Given the description of an element on the screen output the (x, y) to click on. 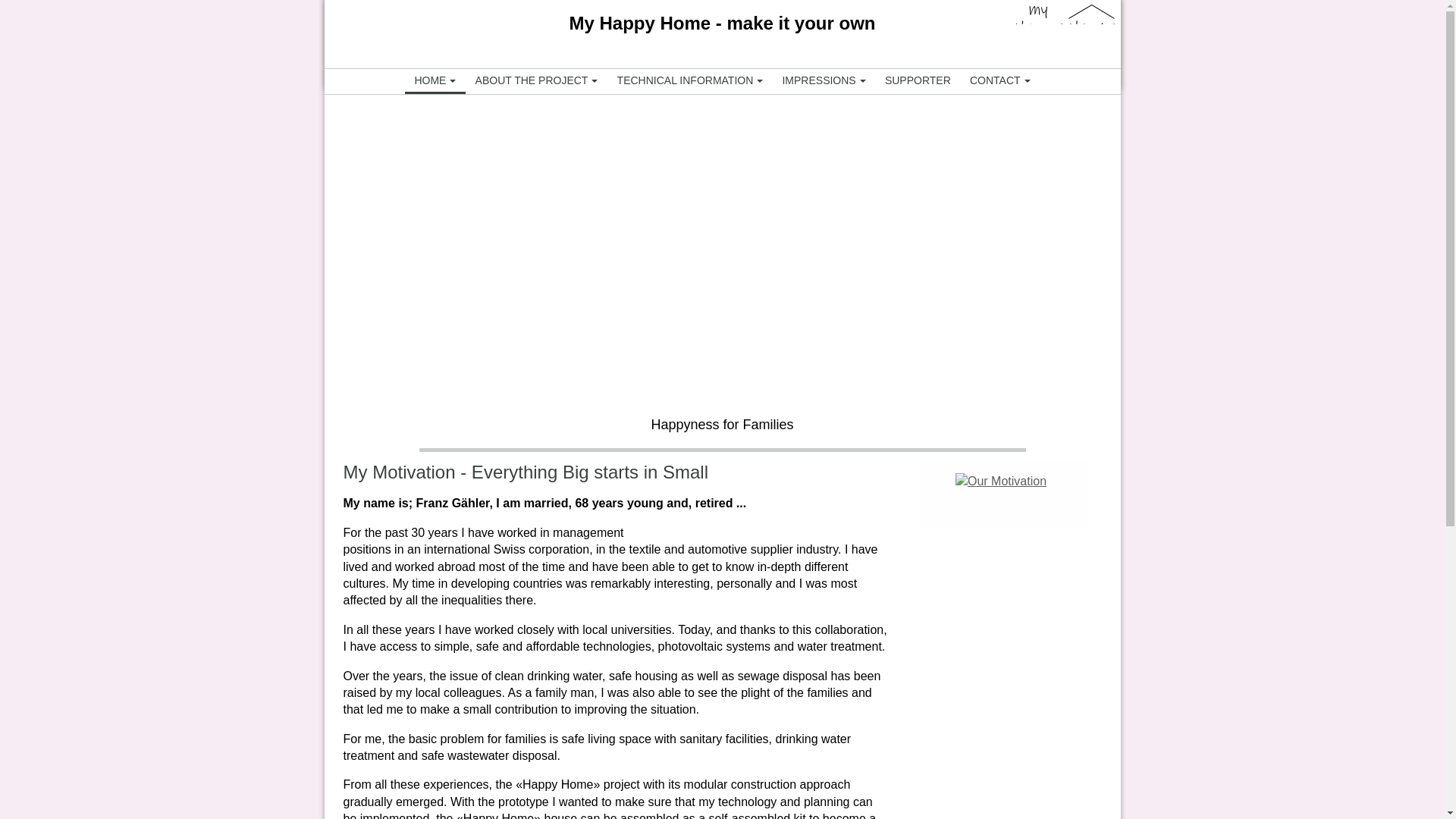
CONTACT (999, 79)
HOME (434, 79)
ABOUT THE PROJECT (536, 79)
Home (434, 79)
SUPPORTER (917, 79)
IMPRESSIONS (824, 79)
TECHNICAL INFORMATION (690, 79)
